Given the description of an element on the screen output the (x, y) to click on. 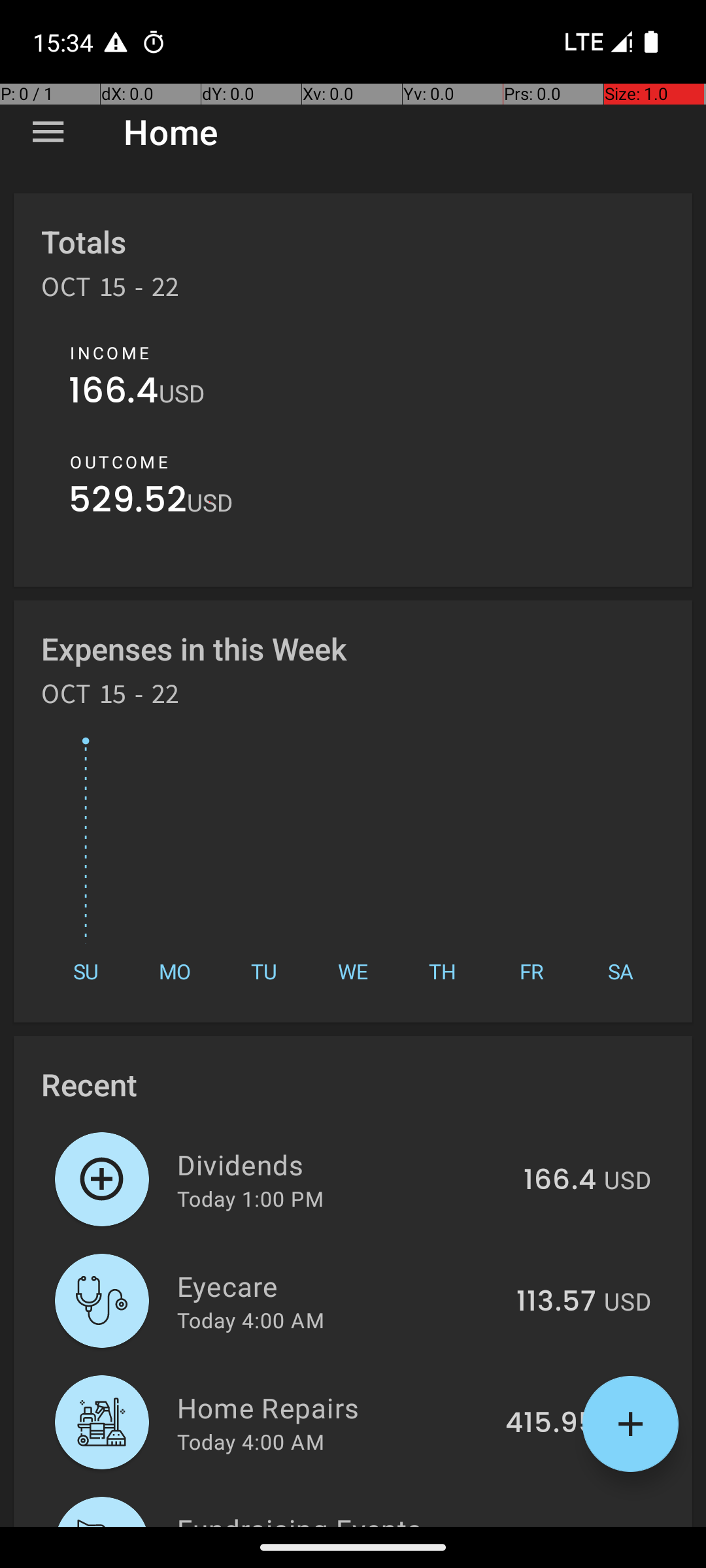
166.4 Element type: android.widget.TextView (113, 393)
529.52 Element type: android.widget.TextView (127, 502)
Dividends Element type: android.widget.TextView (342, 1164)
Today 1:00 PM Element type: android.widget.TextView (250, 1198)
Eyecare Element type: android.widget.TextView (339, 1285)
Today 4:00 AM Element type: android.widget.TextView (250, 1320)
113.57 Element type: android.widget.TextView (555, 1301)
Home Repairs Element type: android.widget.TextView (333, 1407)
415.95 Element type: android.widget.TextView (550, 1423)
Fundraising Events Element type: android.widget.TextView (335, 1518)
479.12 Element type: android.widget.TextView (552, 1524)
